Given the description of an element on the screen output the (x, y) to click on. 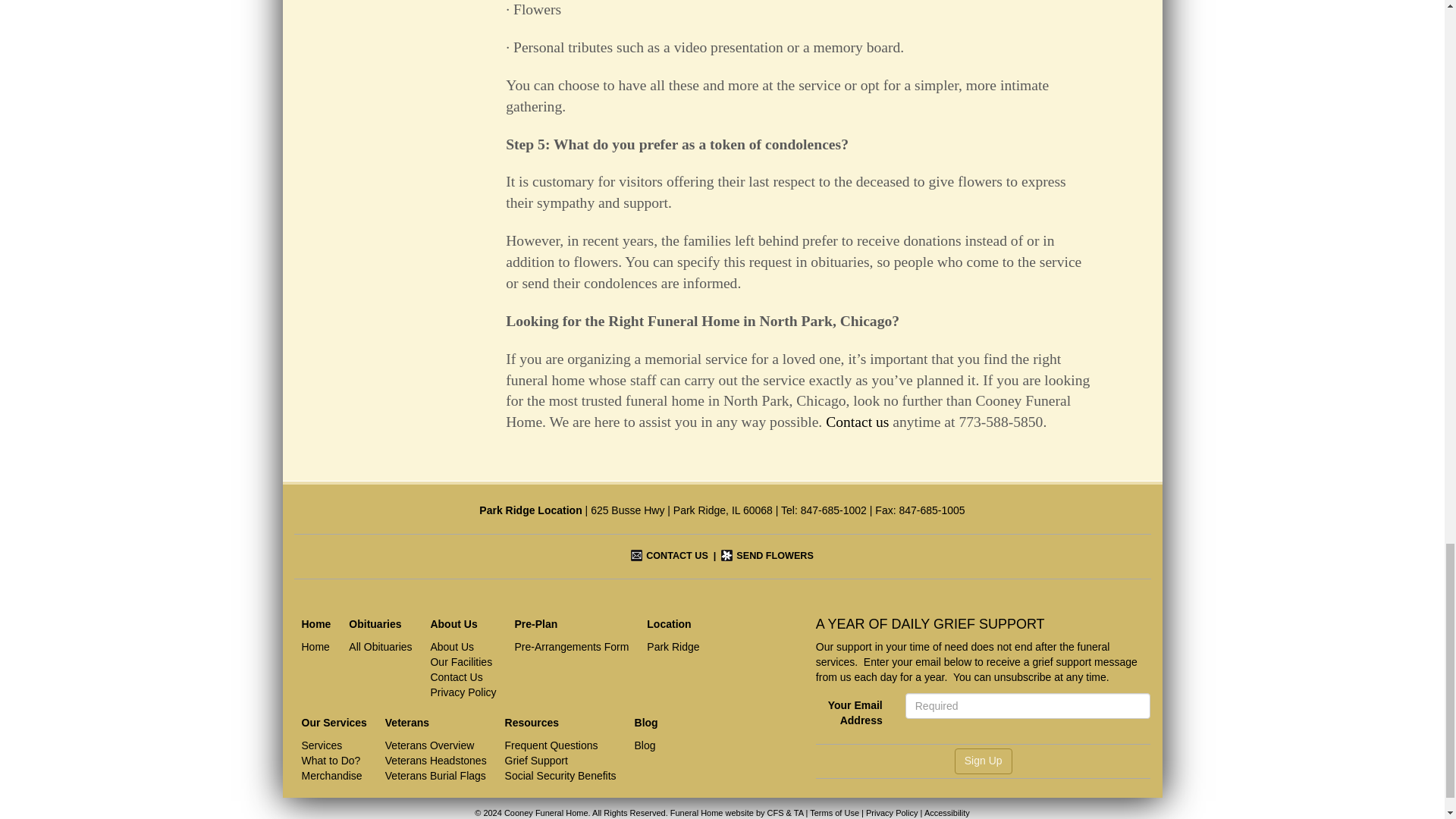
Contact Us (668, 555)
Send Flowers (766, 555)
